Given the description of an element on the screen output the (x, y) to click on. 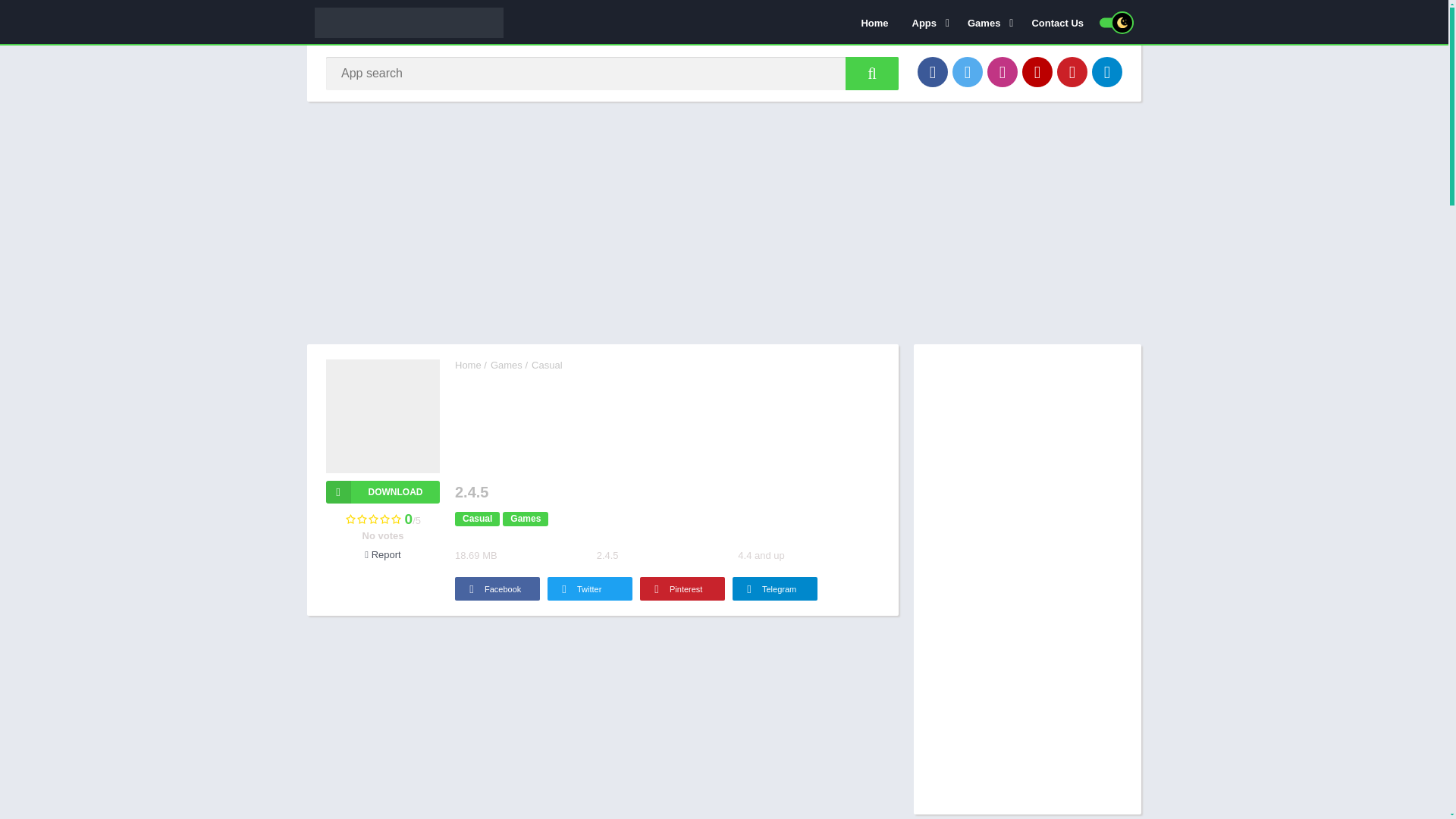
Telegram (1107, 71)
App search (871, 73)
Facebook (932, 71)
YouTube (1037, 71)
Instagram (1002, 71)
Twitter (967, 71)
Download (382, 491)
Pinterest (1072, 71)
